Given the description of an element on the screen output the (x, y) to click on. 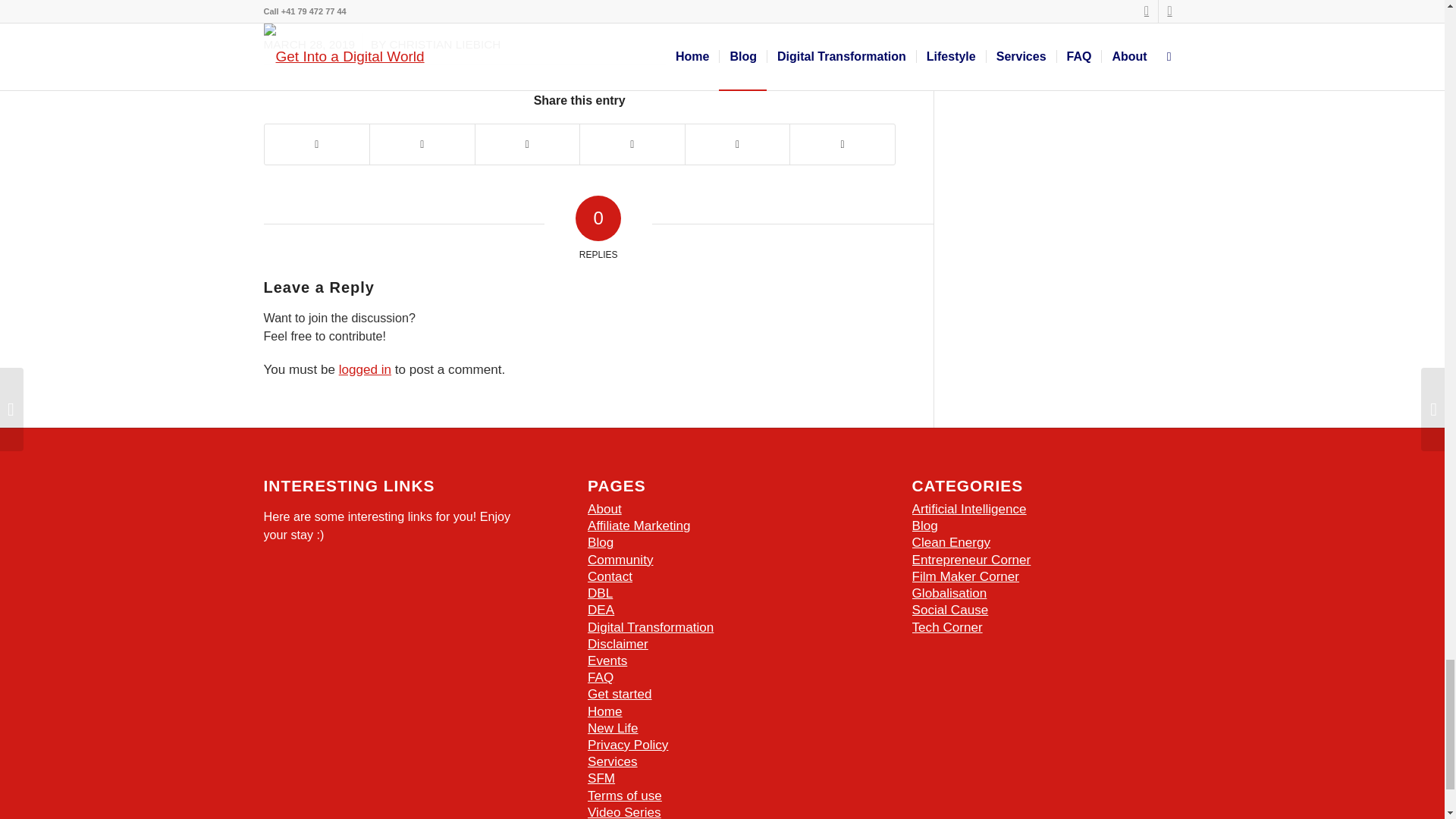
Posts by Christian Liebich (445, 43)
CHRISTIAN LIEBICH (445, 43)
logged in (365, 369)
